Given the description of an element on the screen output the (x, y) to click on. 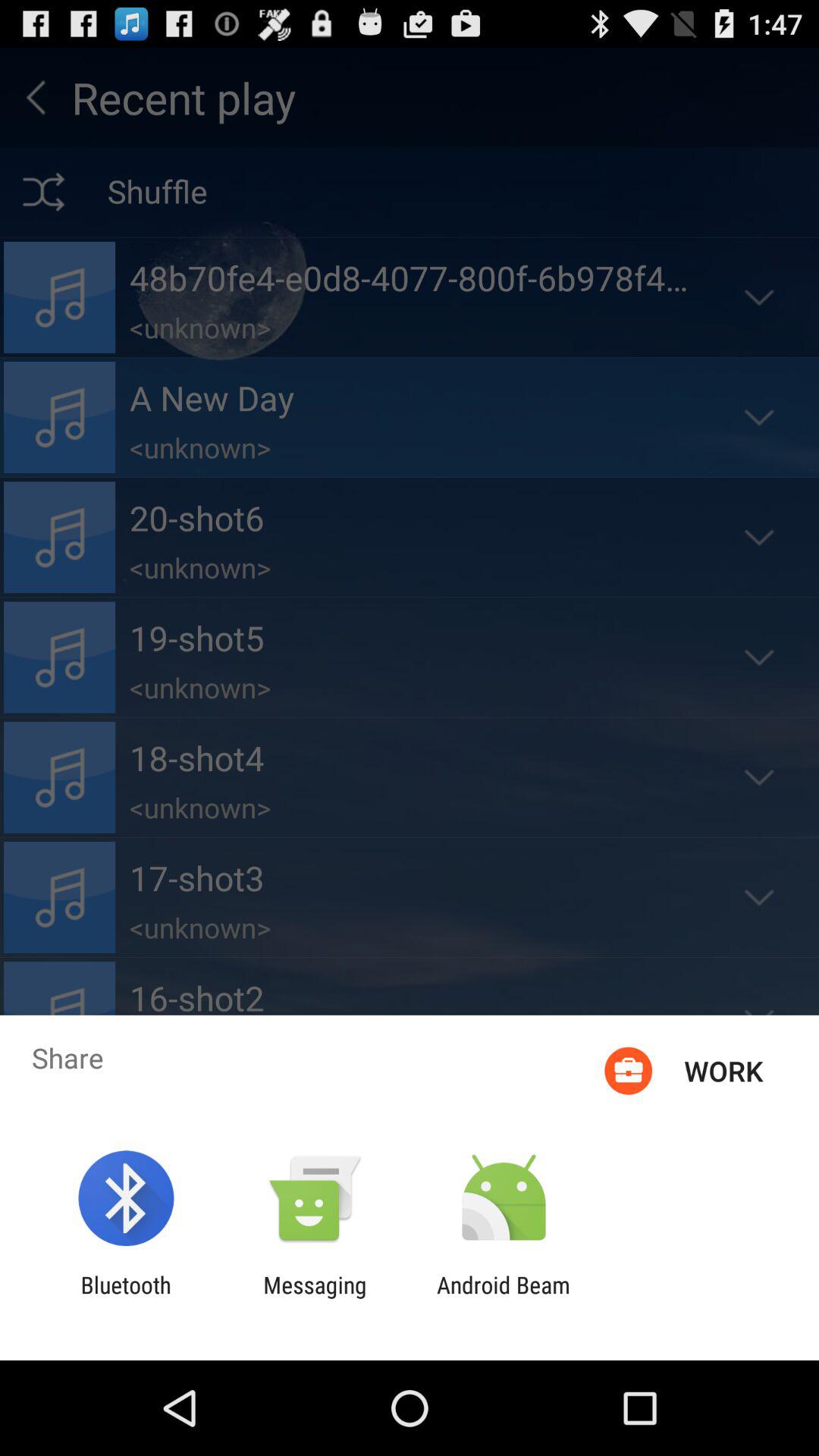
jump until android beam (503, 1298)
